Given the description of an element on the screen output the (x, y) to click on. 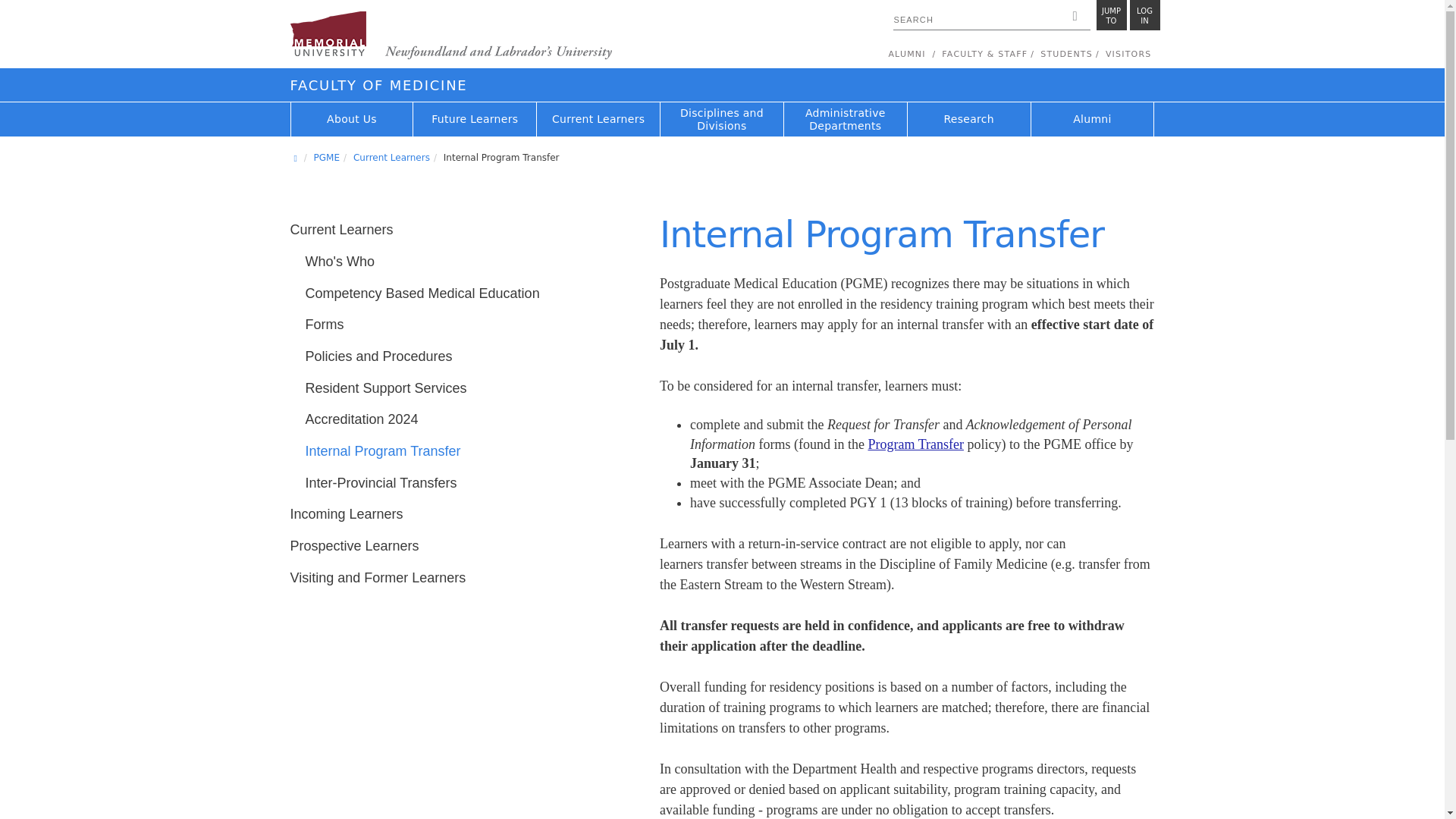
JUMP TO (1111, 15)
Memorial University of Newfoundland (450, 35)
Memorial University (1144, 15)
